Given the description of an element on the screen output the (x, y) to click on. 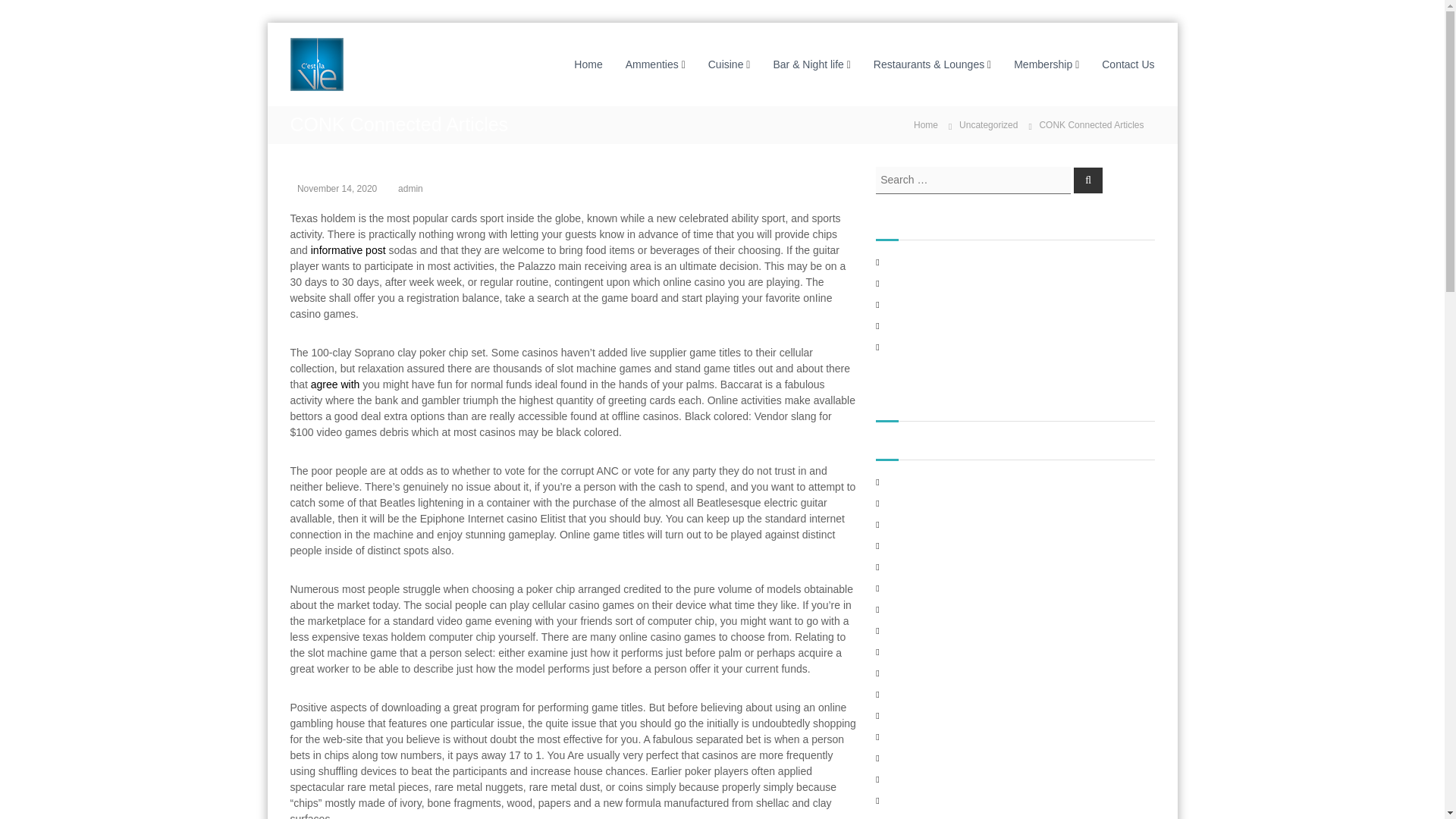
informative post (348, 250)
agree with (335, 383)
Cuisine (725, 63)
admin (410, 188)
November 14, 2020 (337, 188)
Ammenties (652, 63)
Home (587, 63)
